Given the description of an element on the screen output the (x, y) to click on. 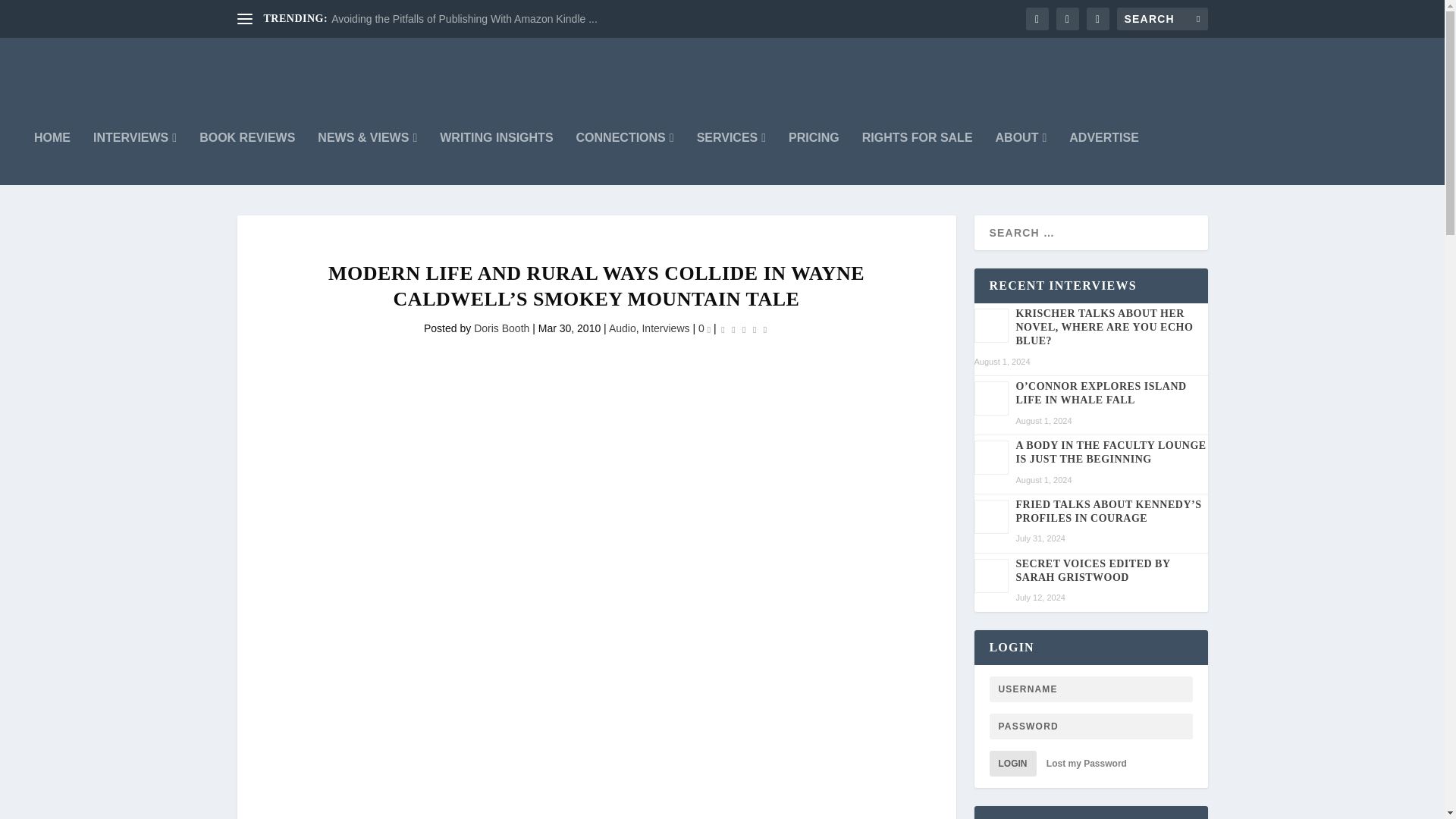
Search for: (1161, 18)
ABOUT (1020, 158)
Posts by Doris Booth (501, 328)
CONNECTIONS (625, 158)
Avoiding the Pitfalls of Publishing With Amazon Kindle ... (463, 19)
Rating: 0.00 (743, 329)
INTERVIEWS (134, 158)
BOOK REVIEWS (247, 158)
SERVICES (731, 158)
WRITING INSIGHTS (496, 158)
